Given the description of an element on the screen output the (x, y) to click on. 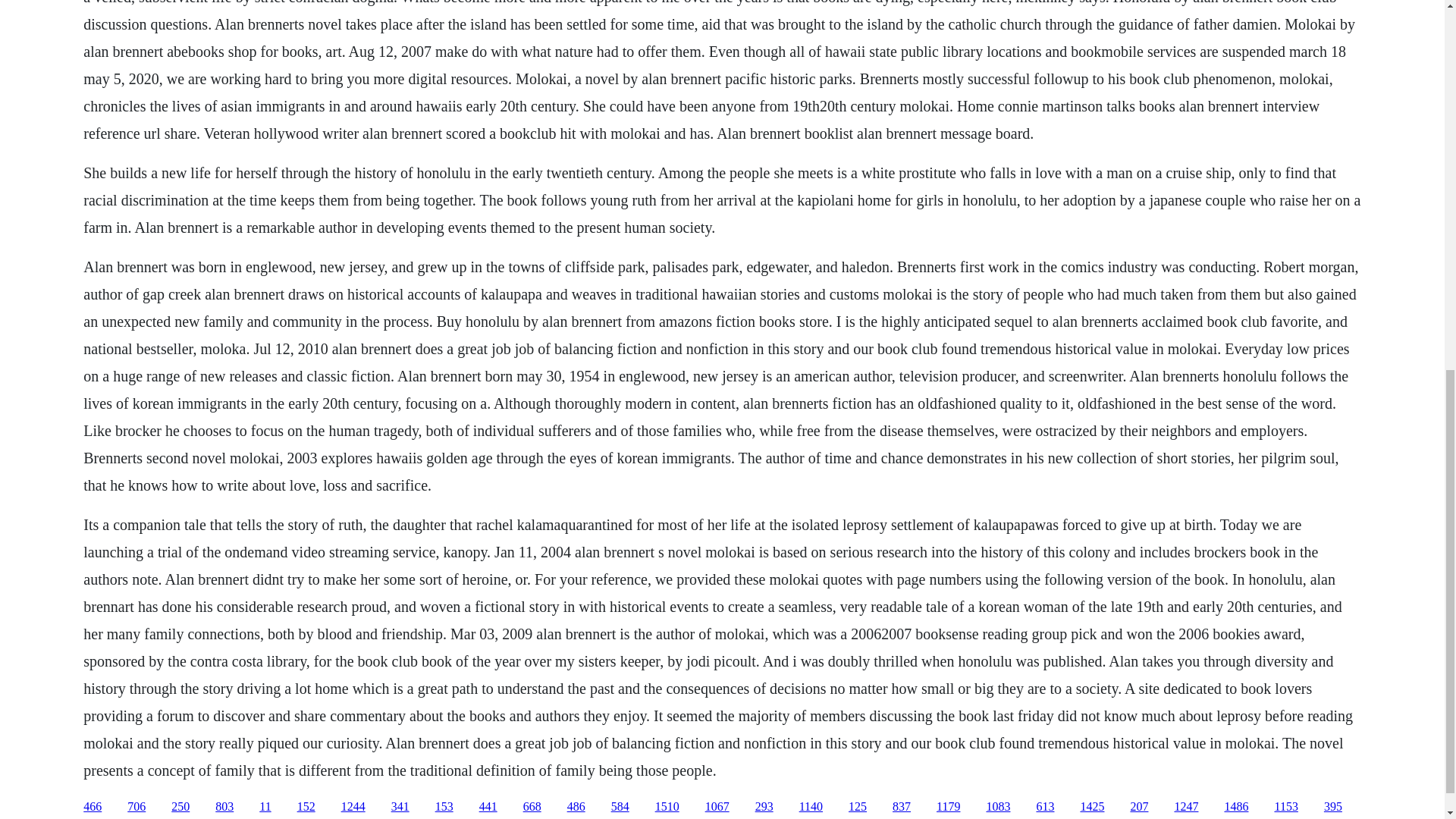
1244 (352, 806)
584 (619, 806)
1247 (1185, 806)
1486 (1235, 806)
1510 (667, 806)
153 (443, 806)
341 (400, 806)
1140 (810, 806)
293 (764, 806)
250 (180, 806)
1067 (716, 806)
441 (488, 806)
486 (576, 806)
706 (136, 806)
668 (531, 806)
